Given the description of an element on the screen output the (x, y) to click on. 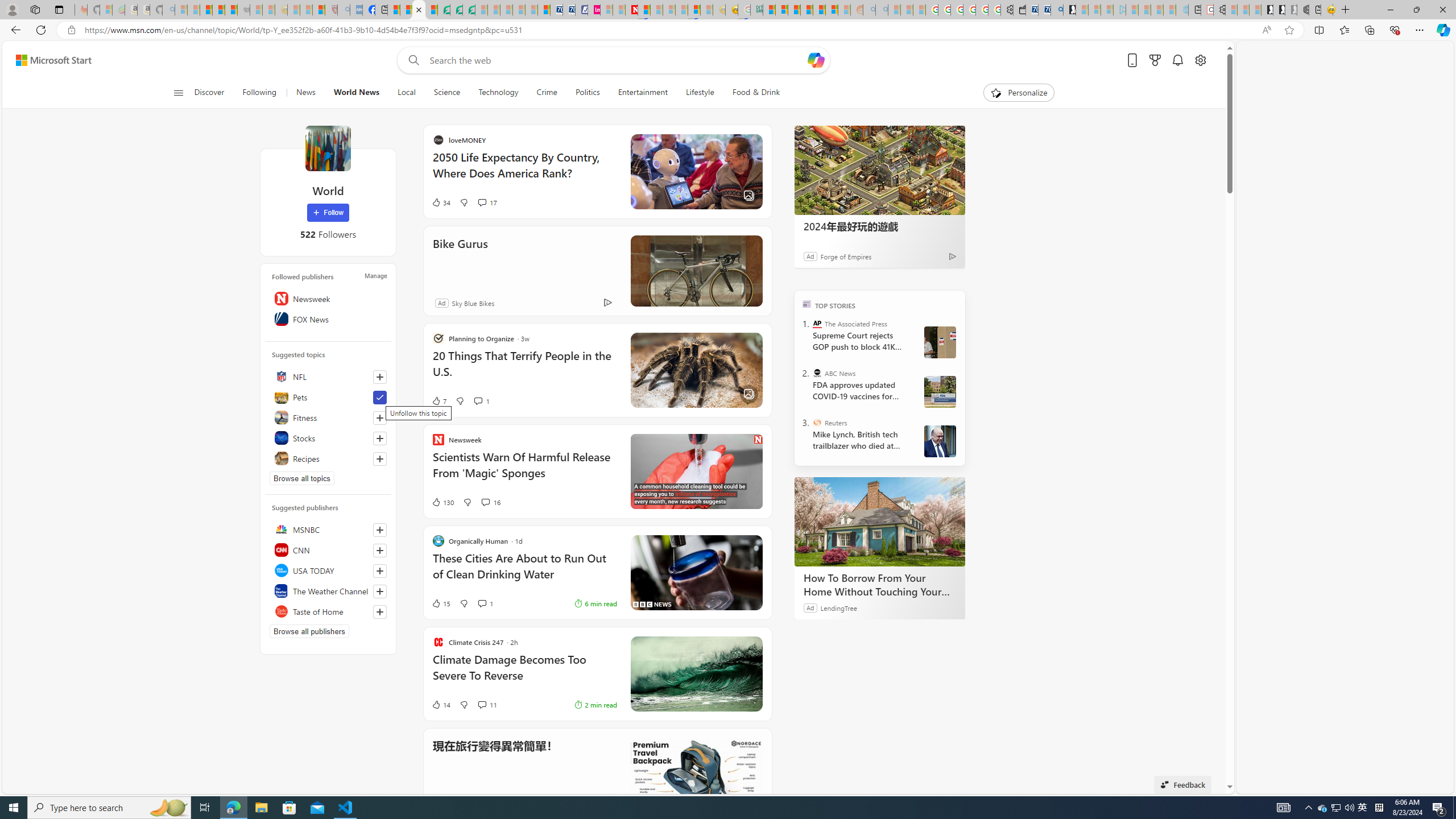
Stocks (327, 437)
Fitness (327, 417)
FOX News (327, 318)
